Given the description of an element on the screen output the (x, y) to click on. 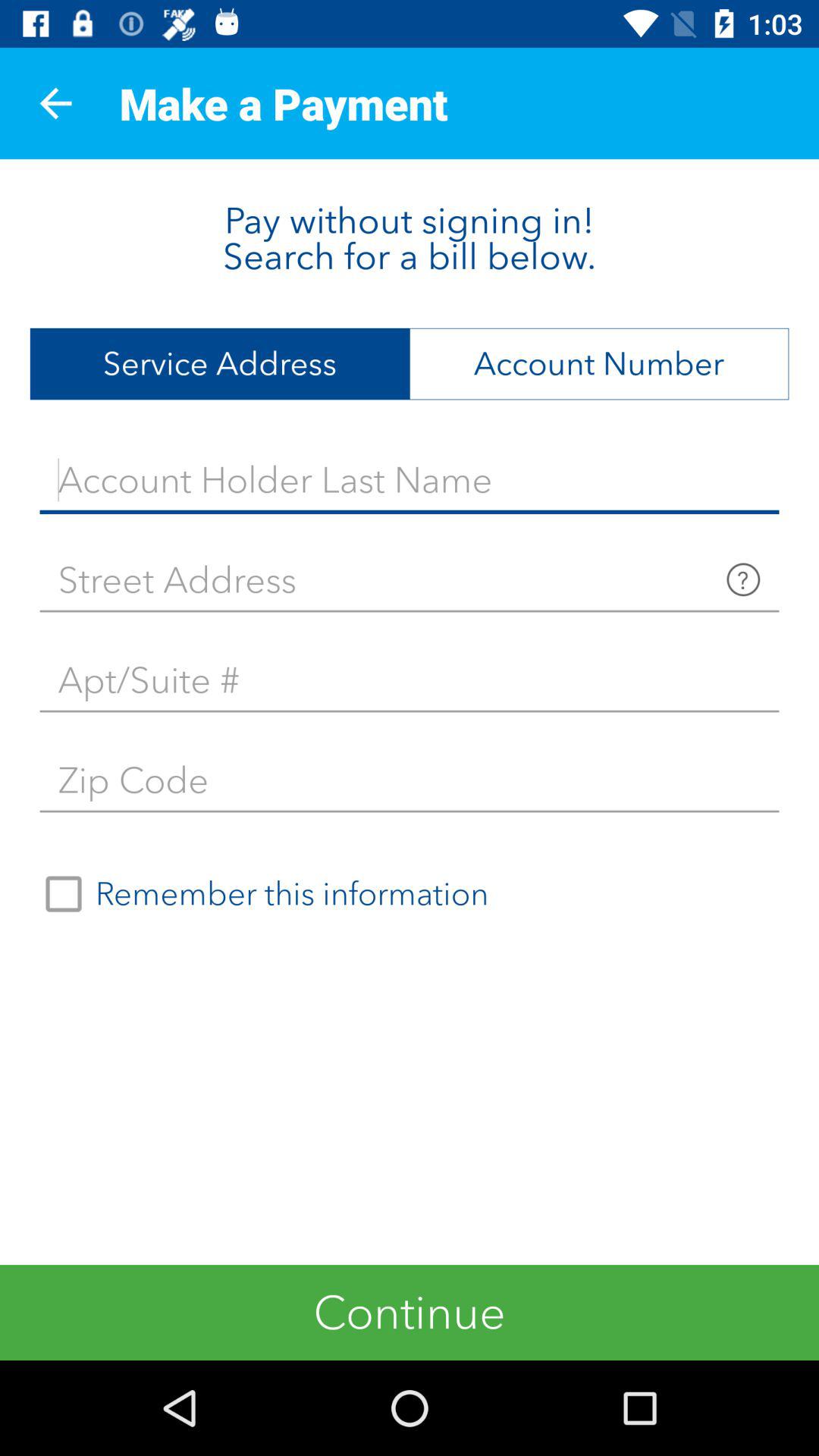
launch the item next to service address item (598, 363)
